Given the description of an element on the screen output the (x, y) to click on. 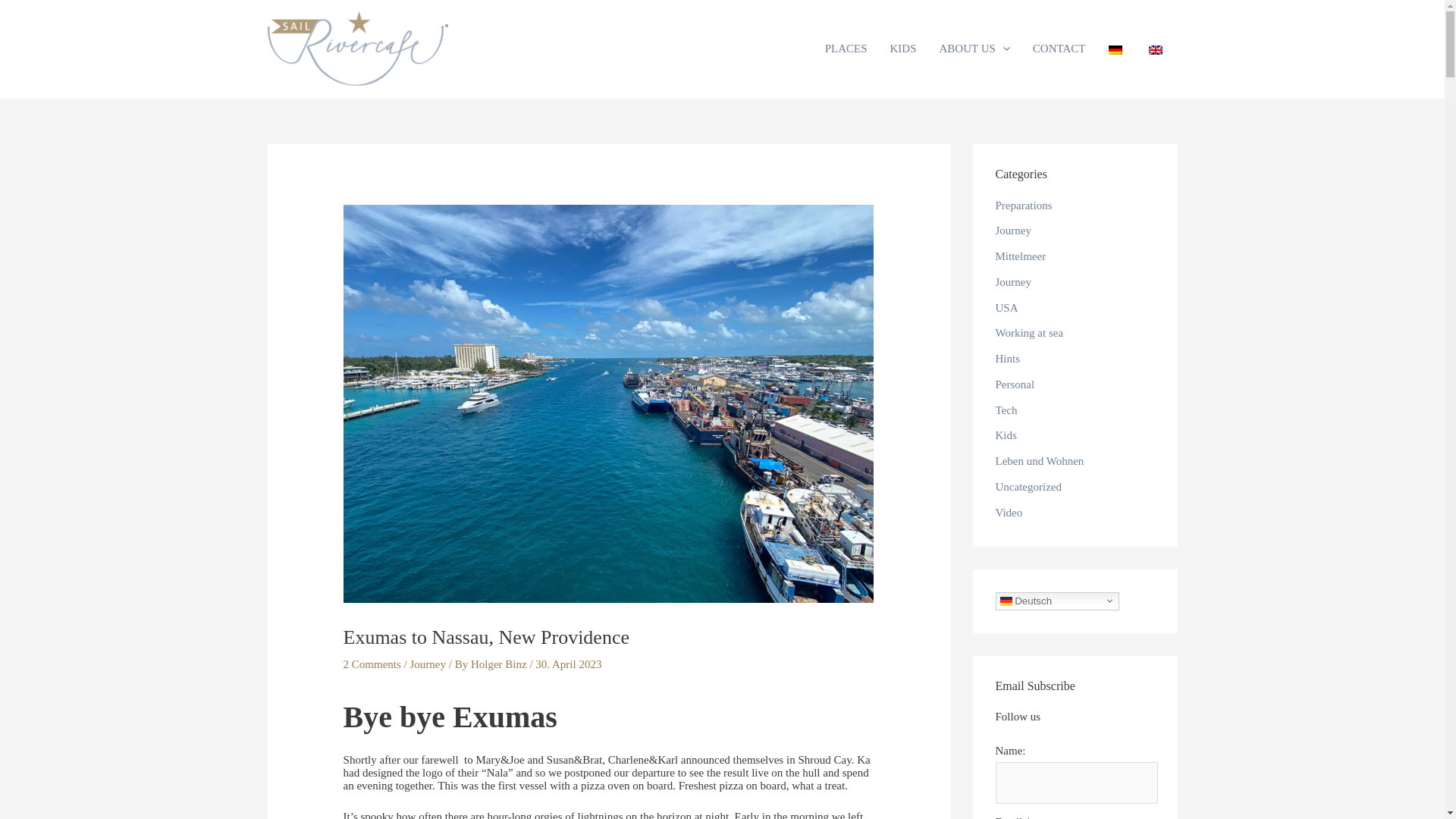
Journey (1012, 230)
USA (1005, 307)
Journey (427, 664)
View all posts by Holger Binz (499, 664)
Working at sea (1028, 332)
ABOUT US (975, 48)
2 Comments (372, 664)
Mittelmeer (1019, 256)
Holger Binz (499, 664)
Journey (1012, 282)
Preparations (1022, 205)
